Given the description of an element on the screen output the (x, y) to click on. 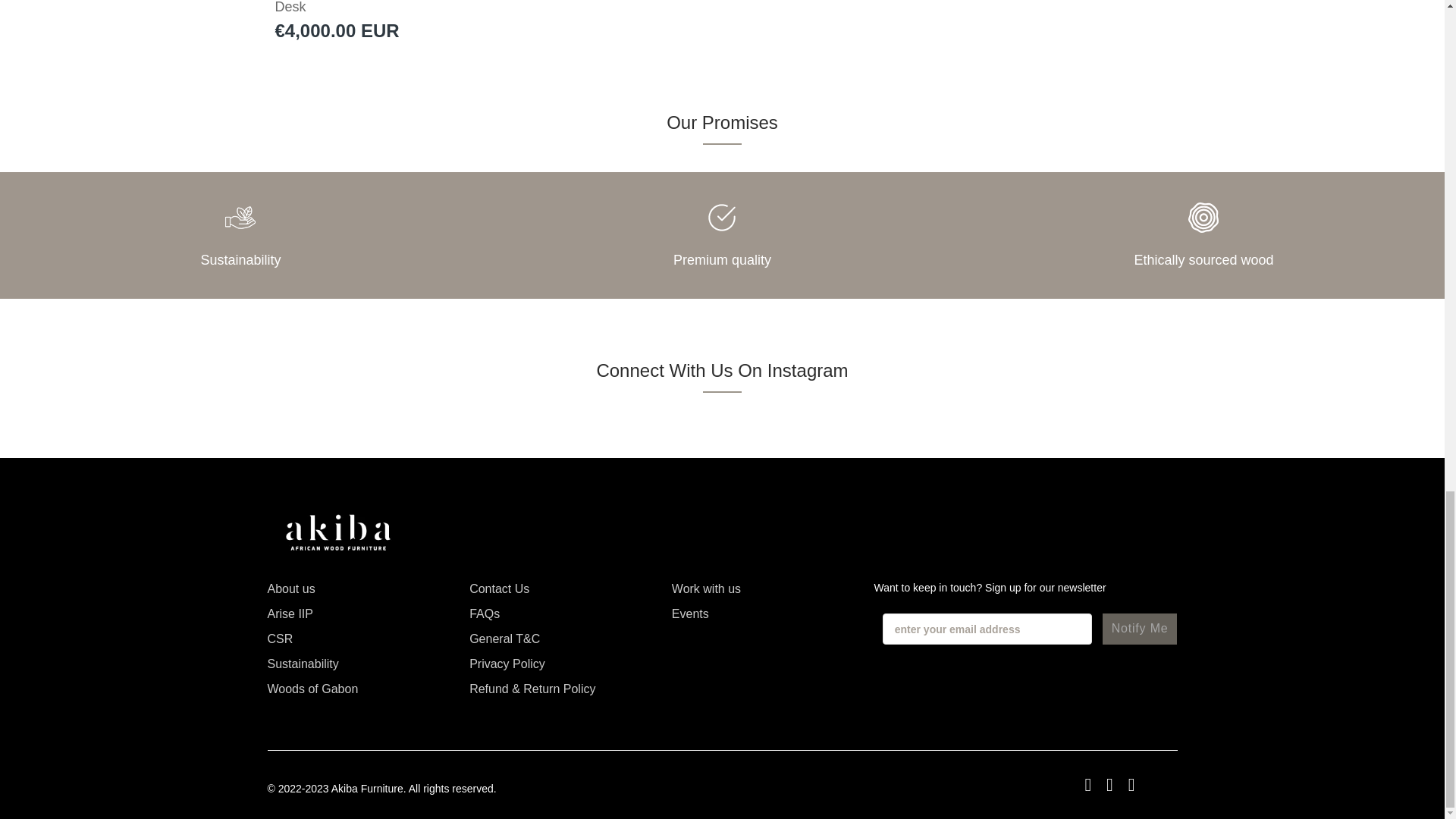
Notify Me (1139, 628)
